Given the description of an element on the screen output the (x, y) to click on. 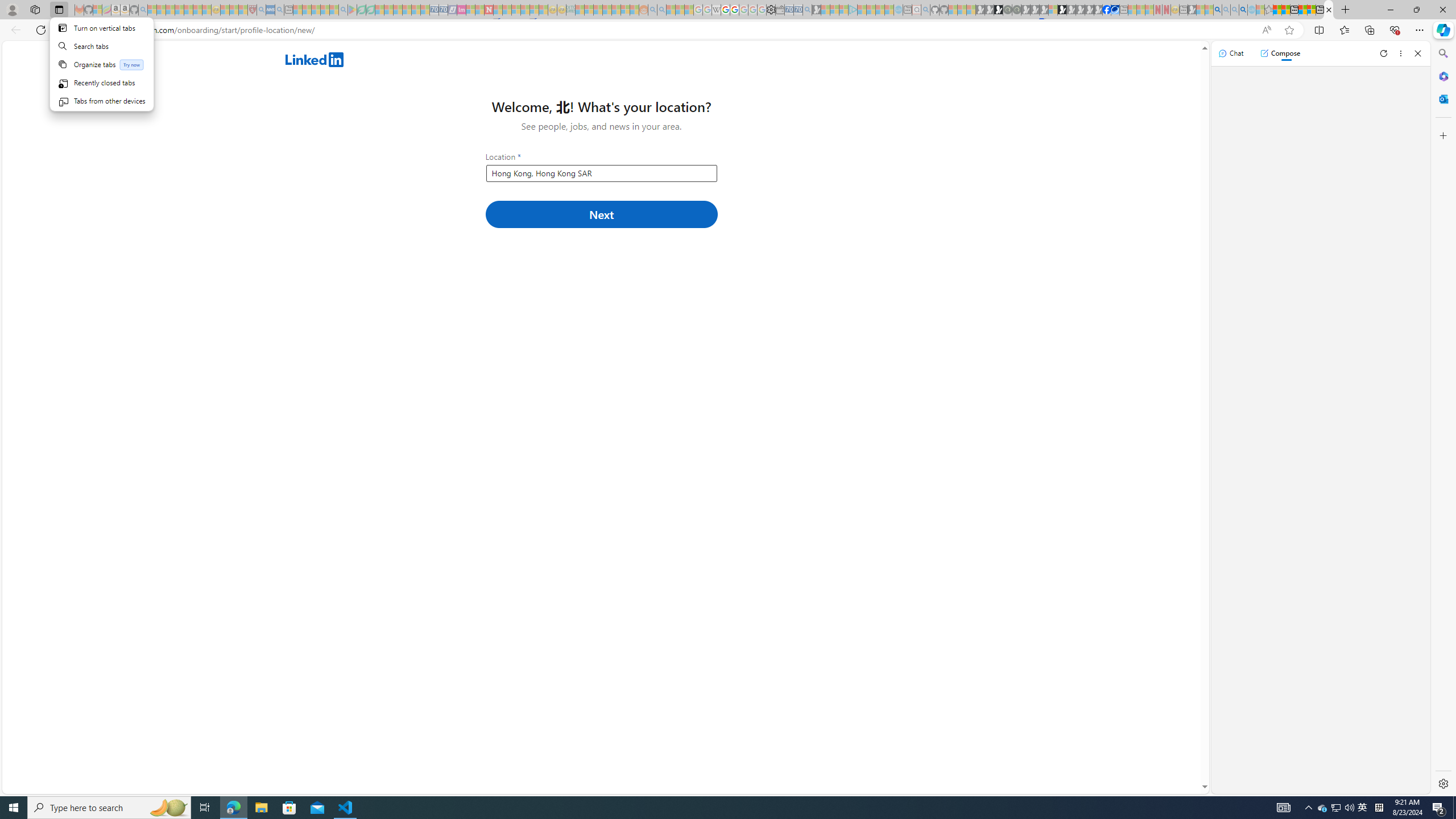
Search tabs (100, 45)
MSNBC - MSN - Sleeping (579, 9)
Turn on vertical tabs (100, 27)
Chat (1230, 52)
